Given the description of an element on the screen output the (x, y) to click on. 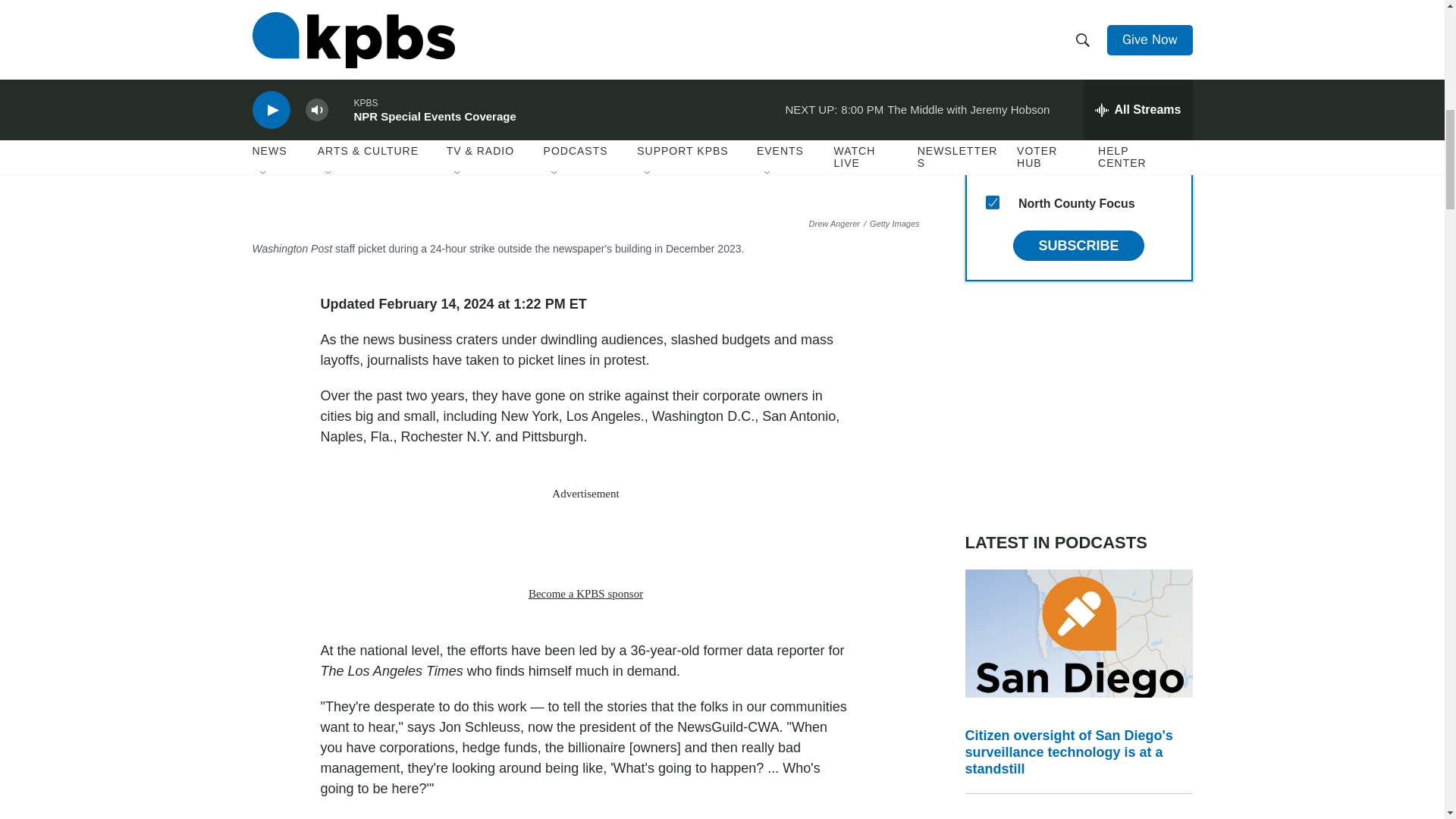
1 (991, 129)
5 (991, 20)
8 (991, 165)
3rd party ad content (584, 543)
2 (991, 92)
15 (991, 202)
6 (991, 56)
3rd party ad content (1077, 406)
